Given the description of an element on the screen output the (x, y) to click on. 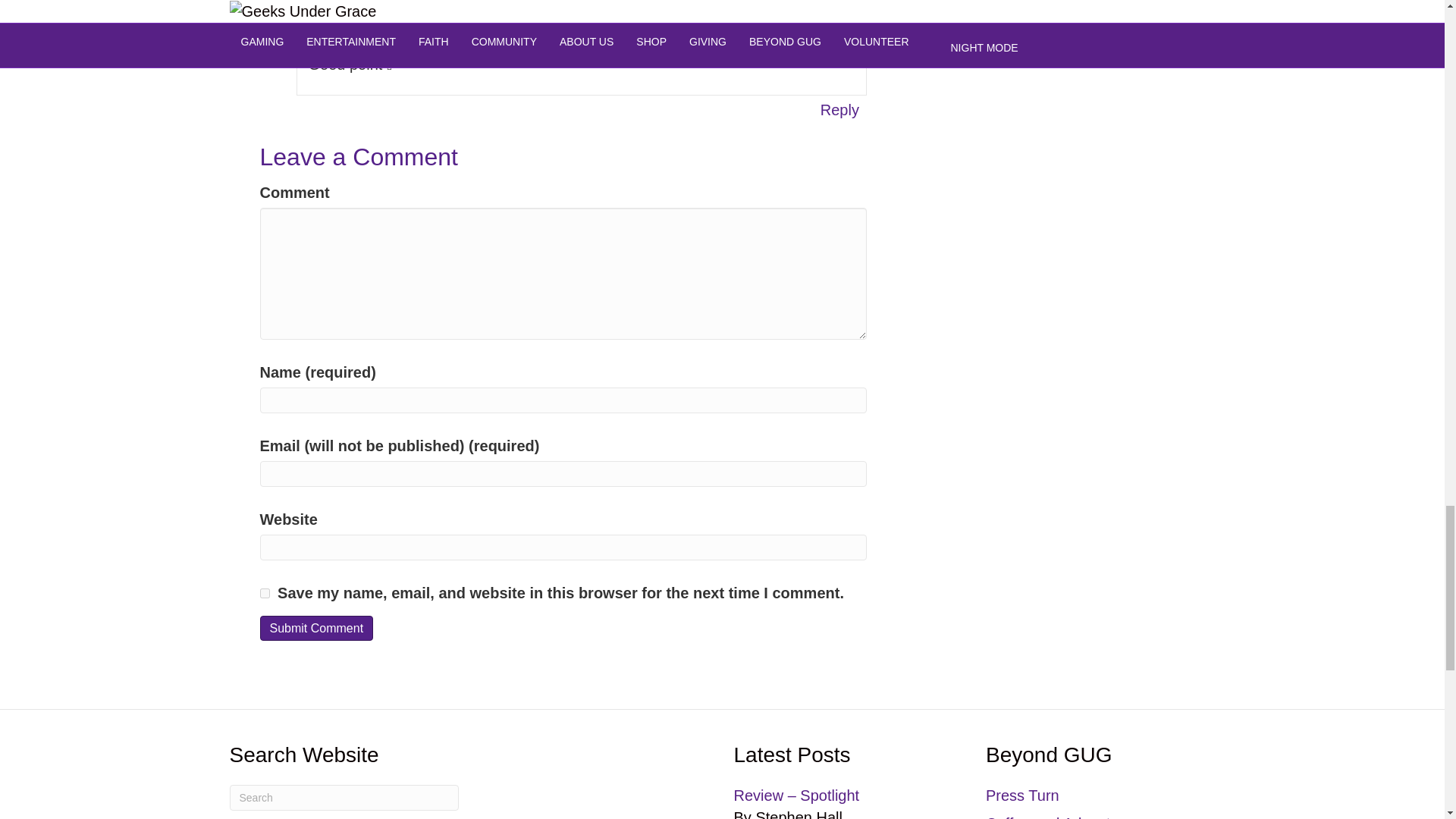
Type and press Enter to search. (343, 797)
Submit Comment (315, 627)
yes (264, 593)
